Given the description of an element on the screen output the (x, y) to click on. 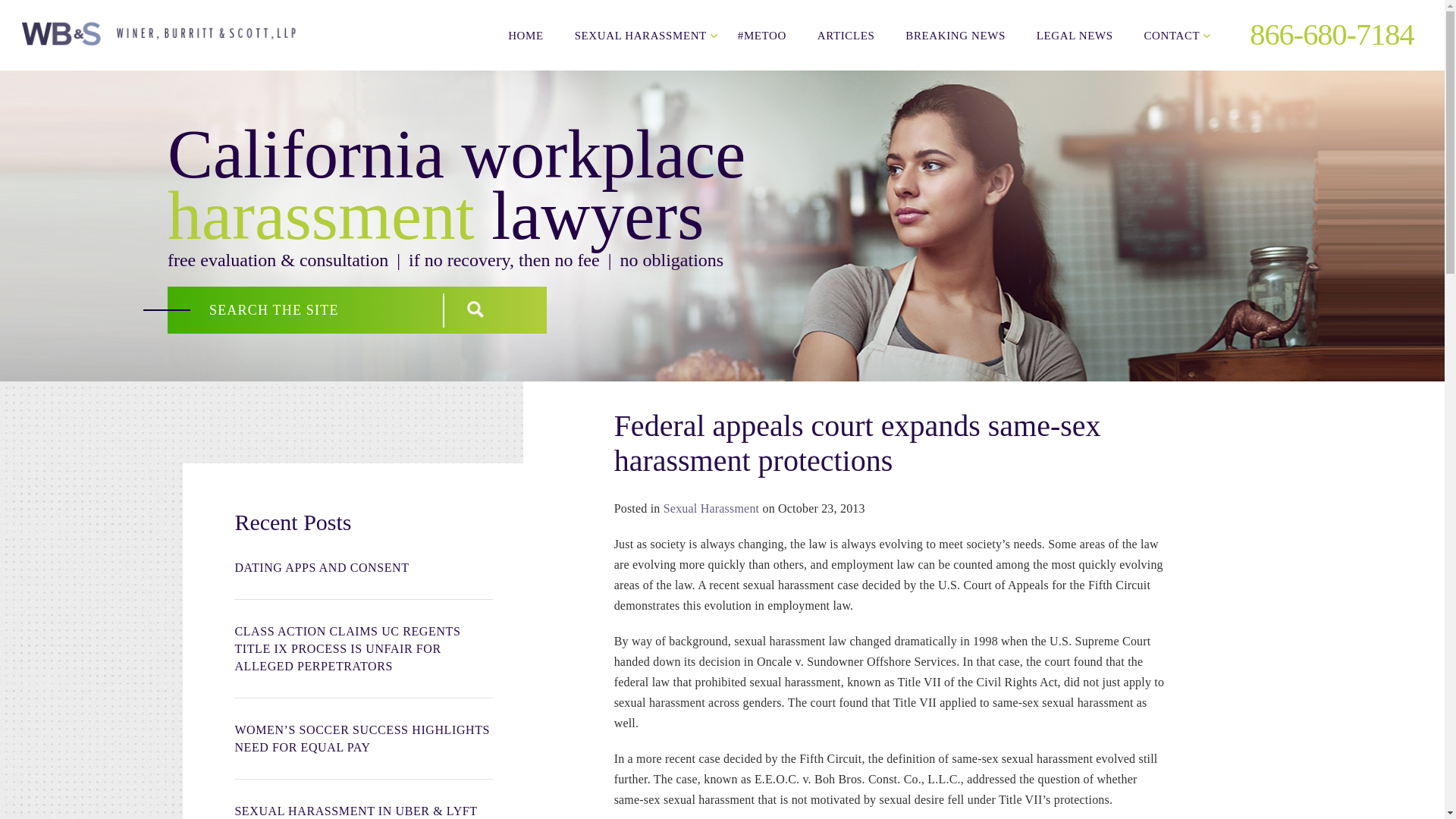
BREAKING NEWS (955, 34)
Sexual Harassment (710, 508)
866-680-7184 (1320, 34)
DATING APPS AND CONSENT (363, 567)
Search for: (310, 309)
SEXUAL HARASSMENT (640, 34)
LEGAL NEWS (1074, 34)
